Given the description of an element on the screen output the (x, y) to click on. 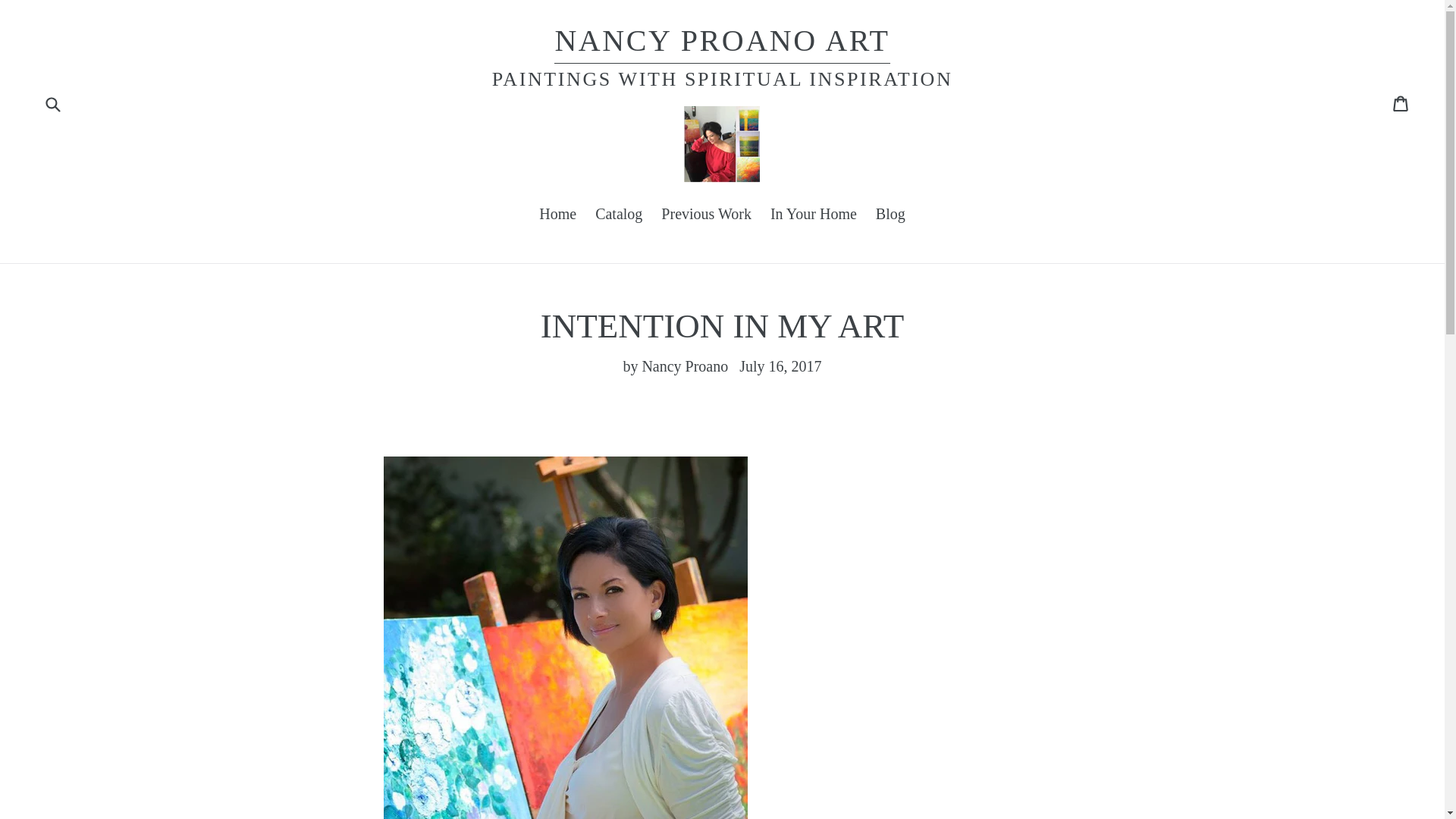
Blog (889, 214)
Catalog (618, 214)
In Your Home (1401, 102)
NANCY PROANO ART (813, 214)
Submit (721, 42)
Home (52, 102)
Previous Work (557, 214)
